Given the description of an element on the screen output the (x, y) to click on. 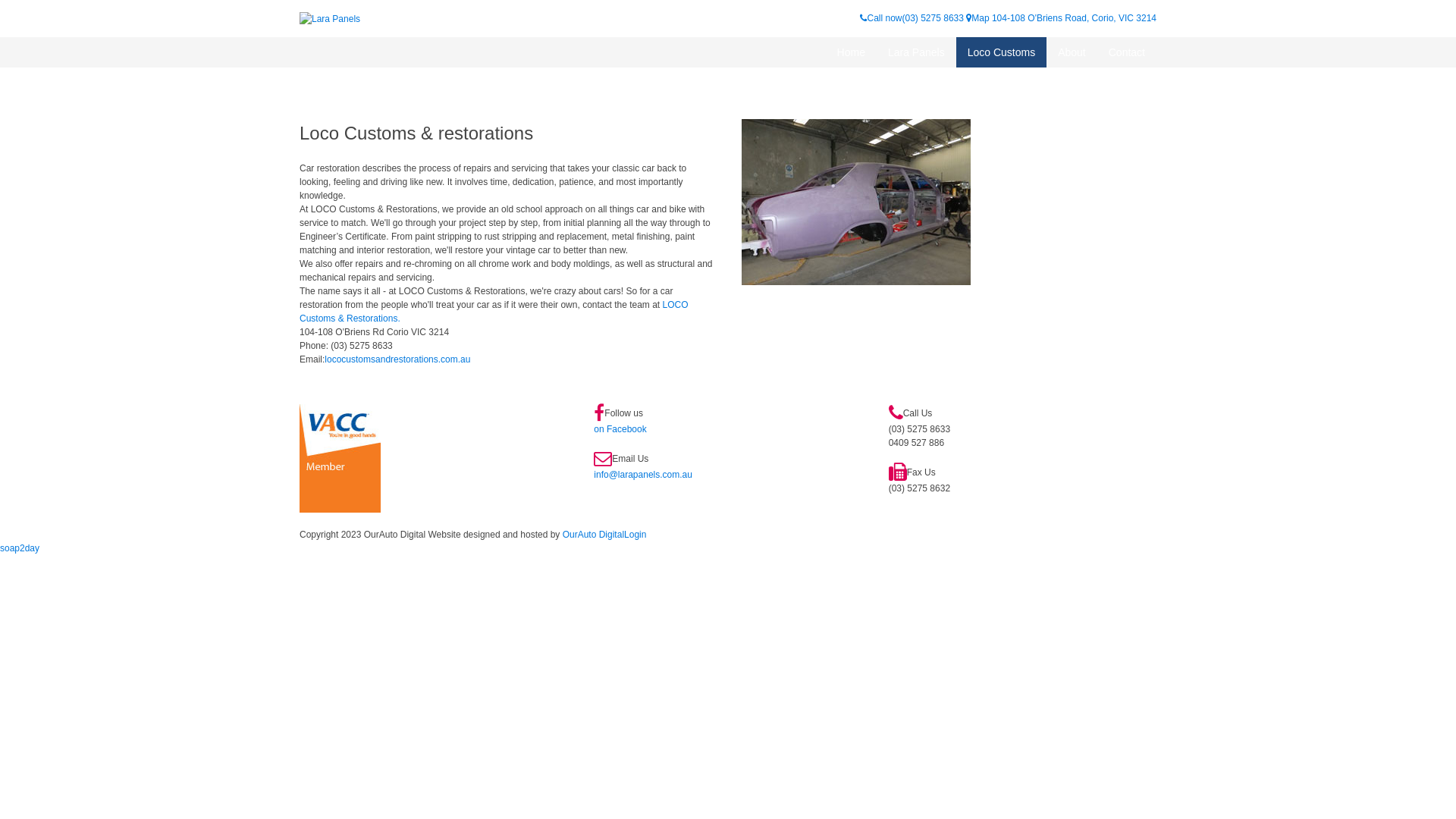
Login Element type: text (635, 534)
Call now(03) 5275 8633 Element type: text (912, 17)
soap2day Element type: text (19, 547)
Lara Panels Element type: hover (329, 17)
lococustomsandrestorations.com.au Element type: text (397, 359)
104-108 O'Briens Road, Corio, VIC 3214 Element type: text (1073, 17)
info@larapanels.com.au Element type: text (642, 474)
Lara Panels Element type: text (916, 52)
Map Element type: text (977, 17)
OurAuto Digital Element type: text (593, 534)
About Element type: text (1071, 52)
Loco Customs Element type: text (1001, 52)
LOCO Customs & Restorations. Element type: text (493, 311)
Home Element type: text (850, 52)
Contact Element type: text (1126, 52)
on Facebook Element type: text (619, 428)
